Given the description of an element on the screen output the (x, y) to click on. 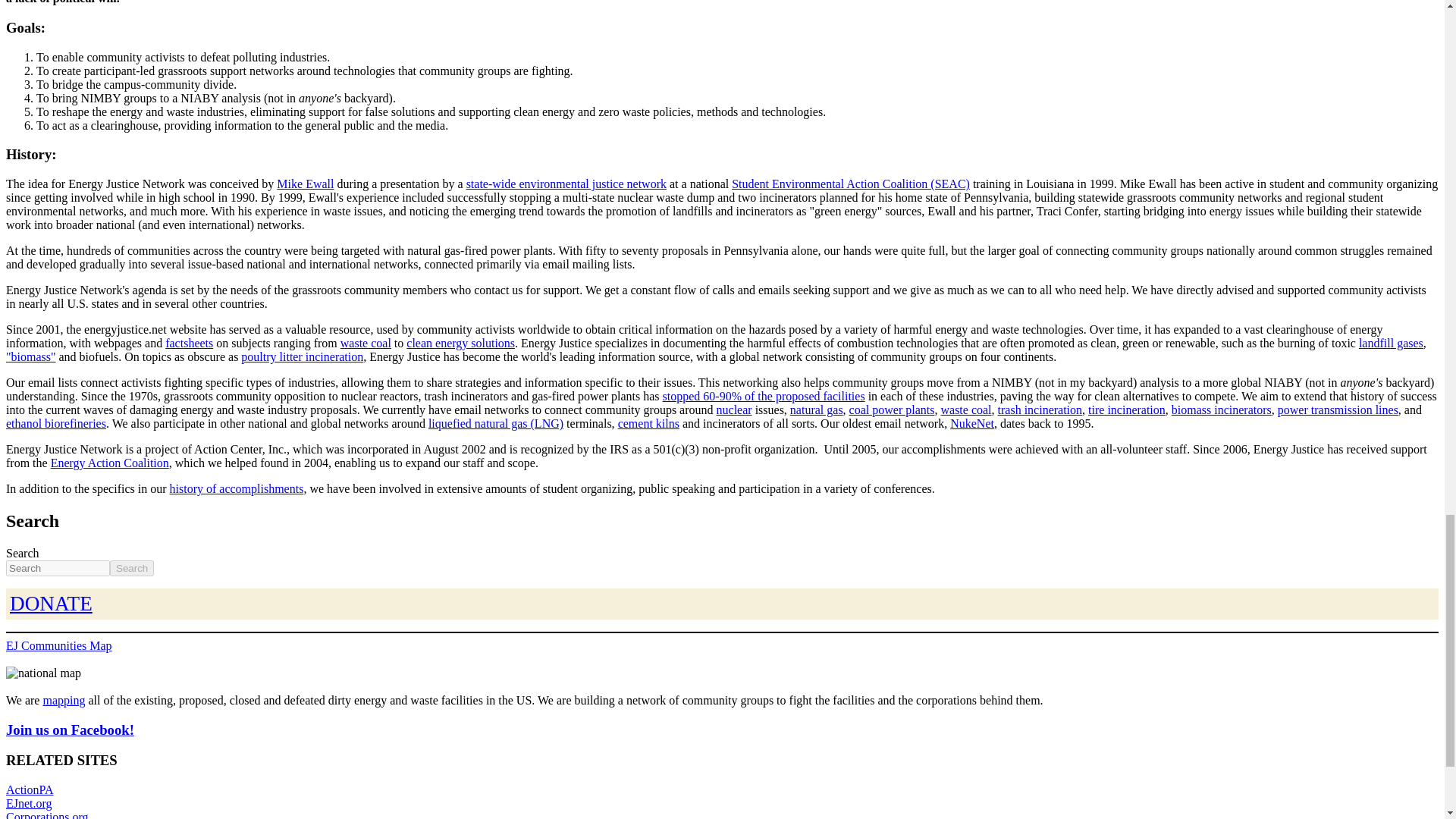
Enter the terms you wish to search for. (57, 568)
